Given the description of an element on the screen output the (x, y) to click on. 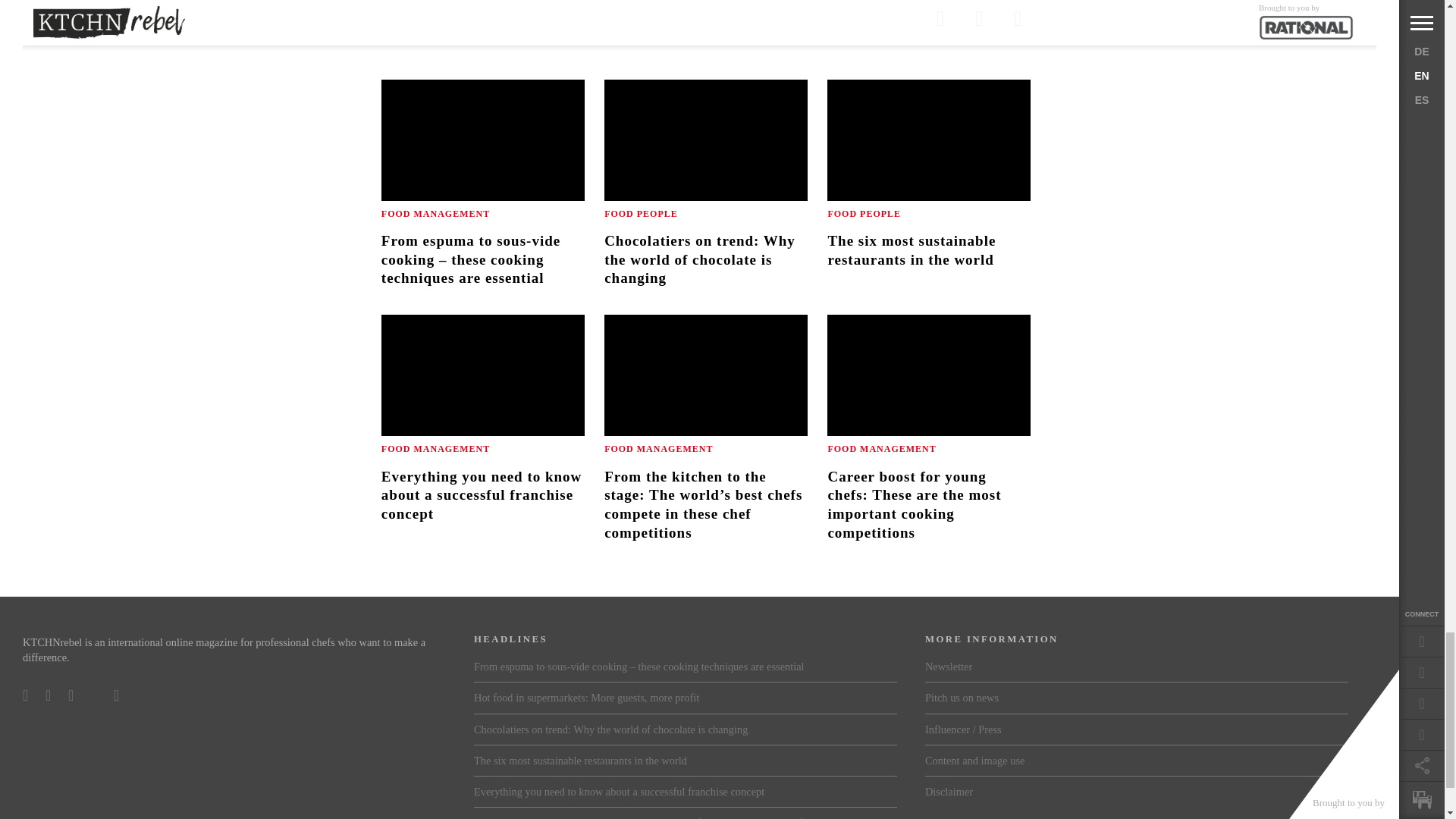
The six most sustainable restaurants in the world (928, 195)
Share on Facebook (940, 18)
Share on Linkedin (978, 18)
